Given the description of an element on the screen output the (x, y) to click on. 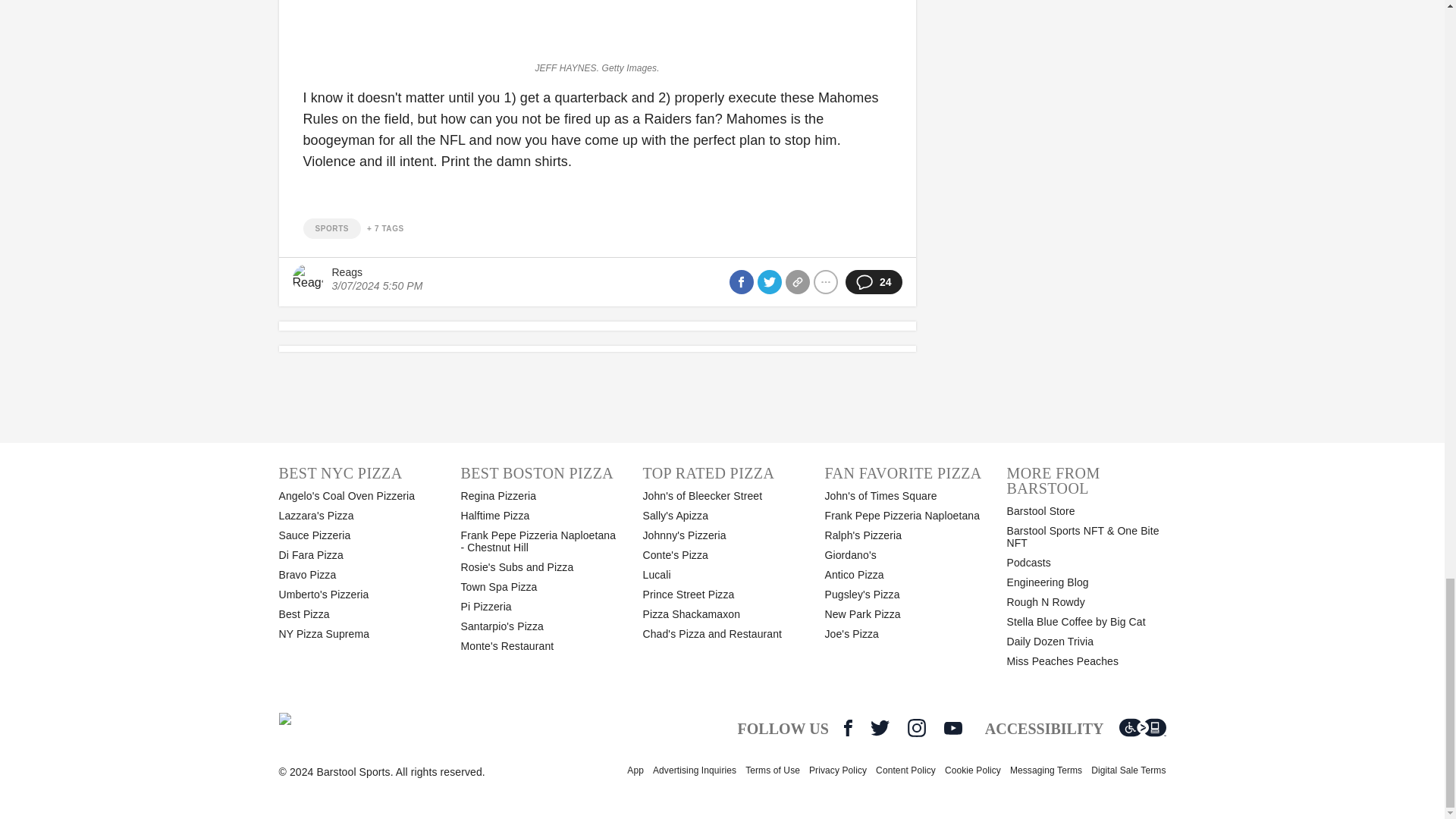
YouTube Icon (952, 728)
Instagram Icon (916, 728)
Level Access website accessibility icon (1142, 727)
Twitter Icon (879, 728)
